Given the description of an element on the screen output the (x, y) to click on. 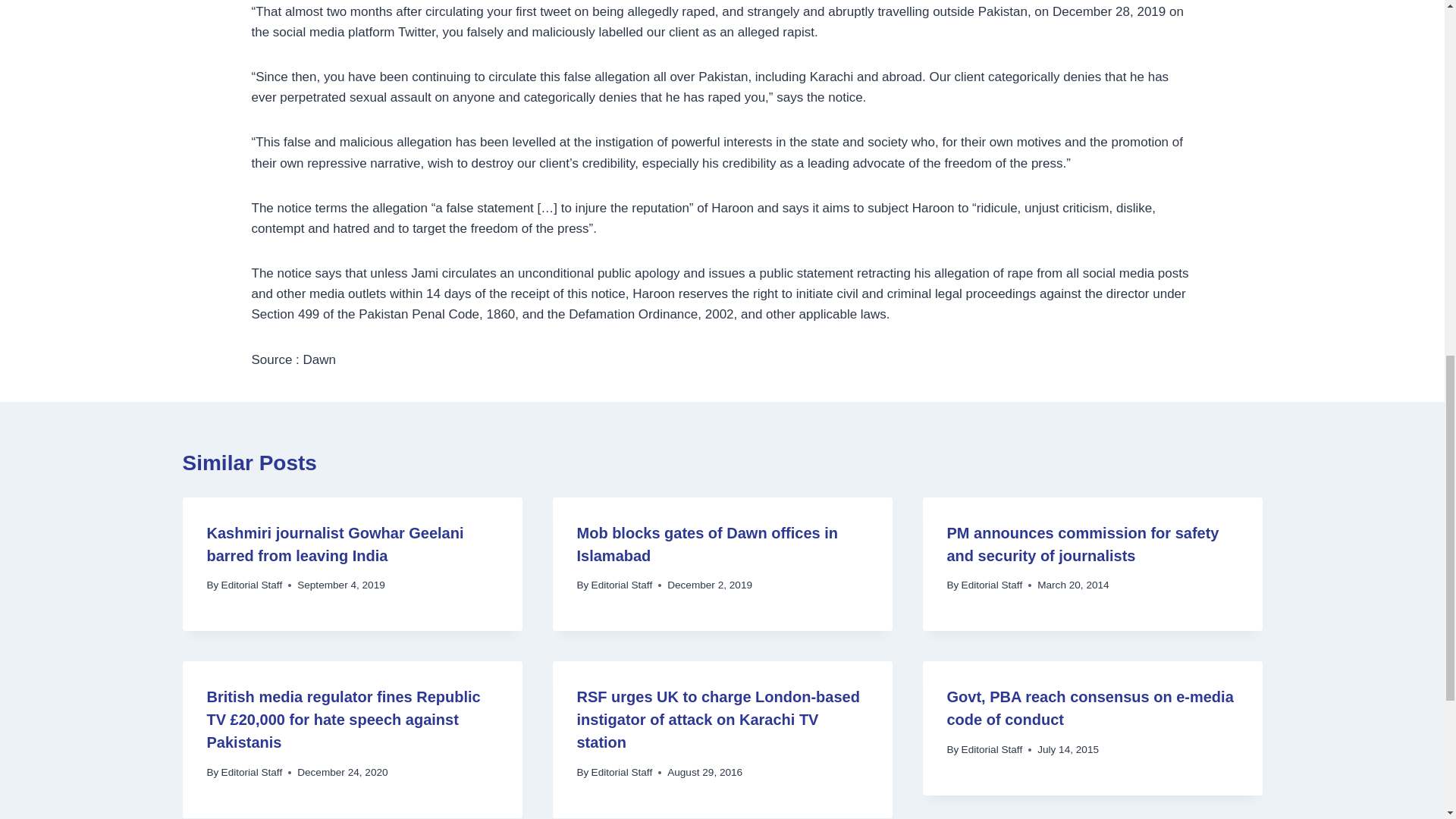
Editorial Staff (991, 584)
Editorial Staff (251, 584)
Editorial Staff (621, 772)
Kashmiri journalist Gowhar Geelani barred from leaving India (334, 544)
Govt, PBA reach consensus on e-media code of conduct (1089, 708)
Editorial Staff (251, 772)
Editorial Staff (621, 584)
Mob blocks gates of Dawn offices in Islamabad (707, 544)
